Given the description of an element on the screen output the (x, y) to click on. 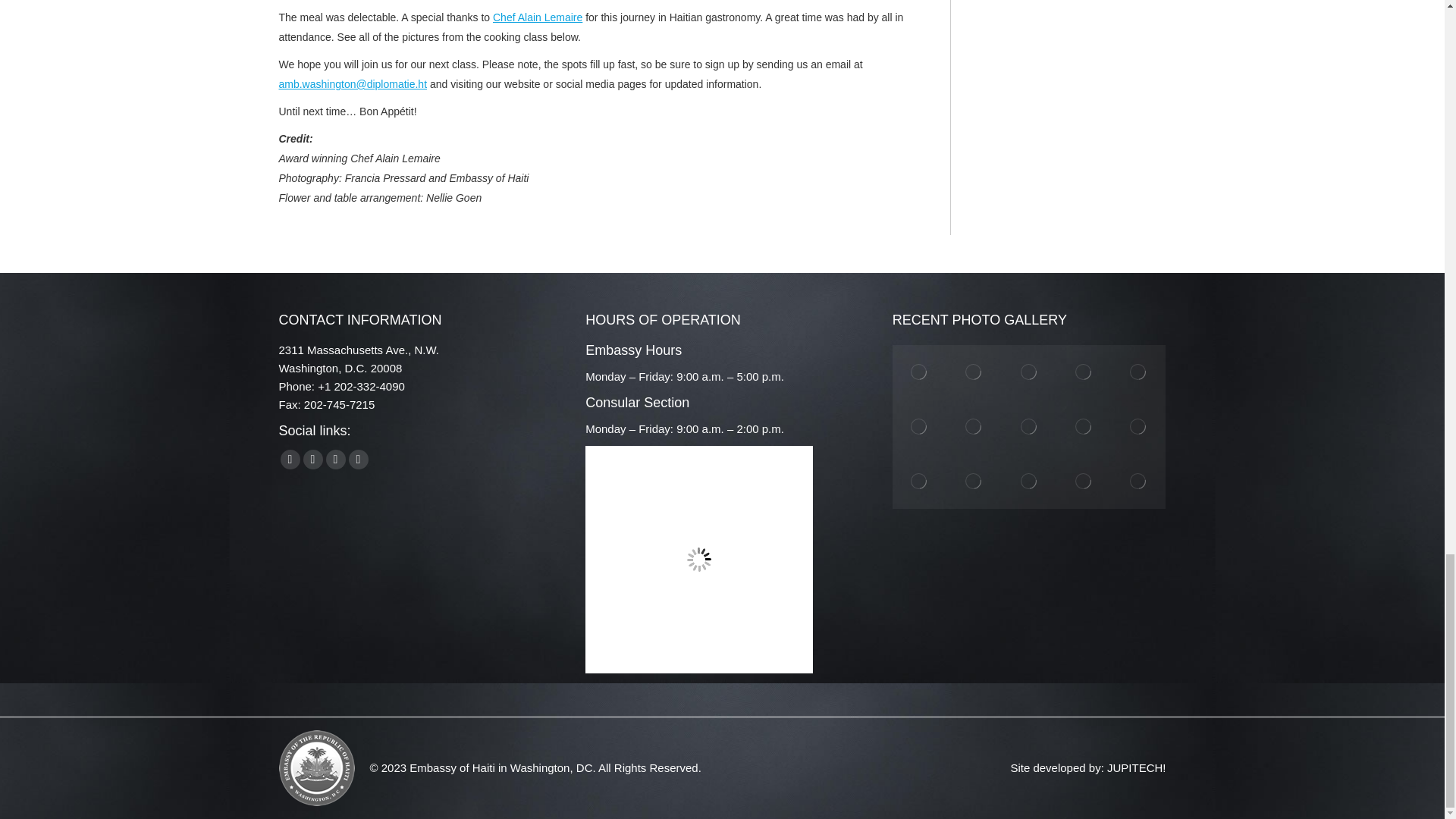
Facebook page opens in new window (290, 459)
X page opens in new window (312, 459)
Instagram page opens in new window (336, 459)
